Given the description of an element on the screen output the (x, y) to click on. 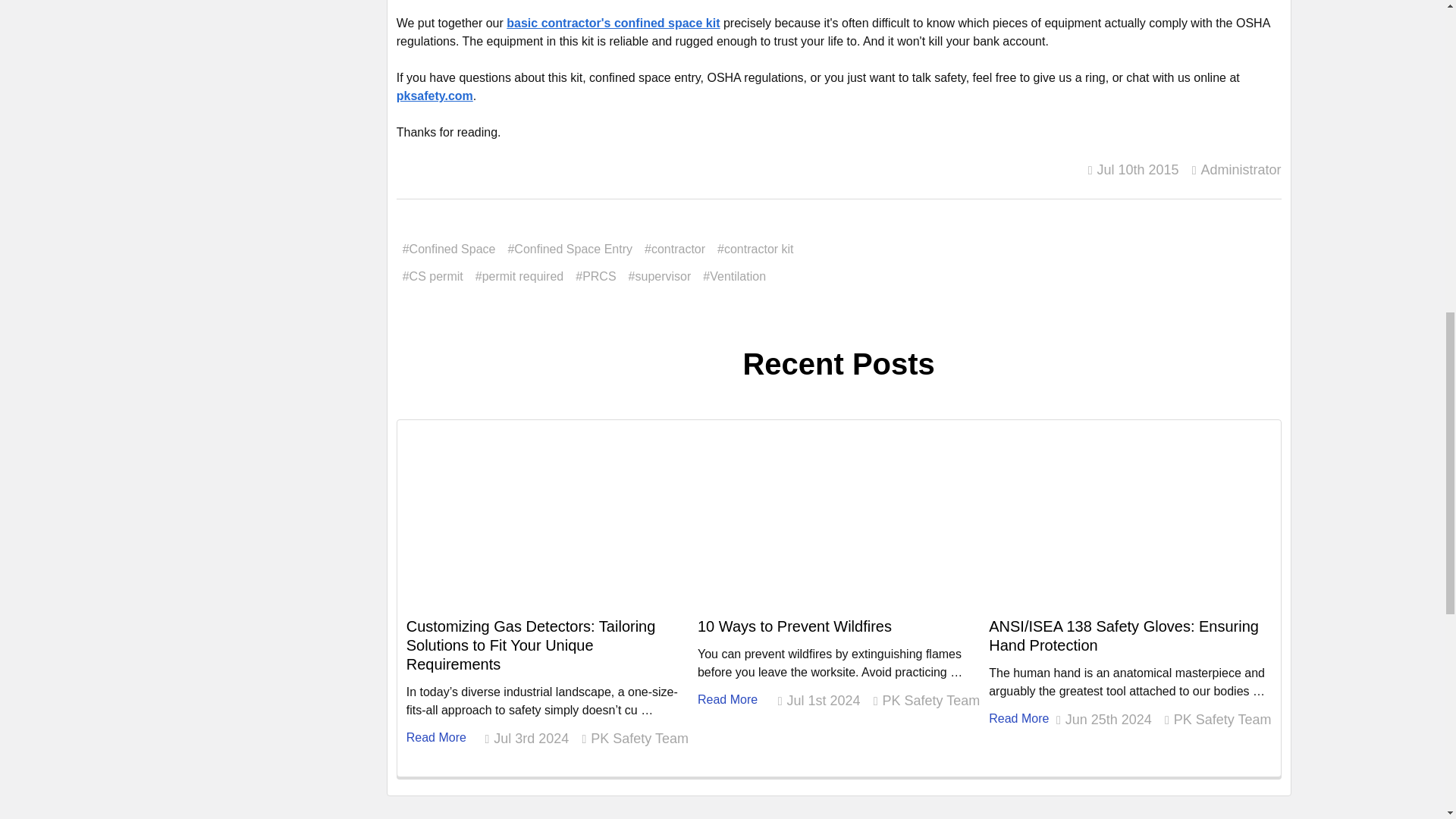
10 Ways to Prevent Wildfires  (838, 523)
